Given the description of an element on the screen output the (x, y) to click on. 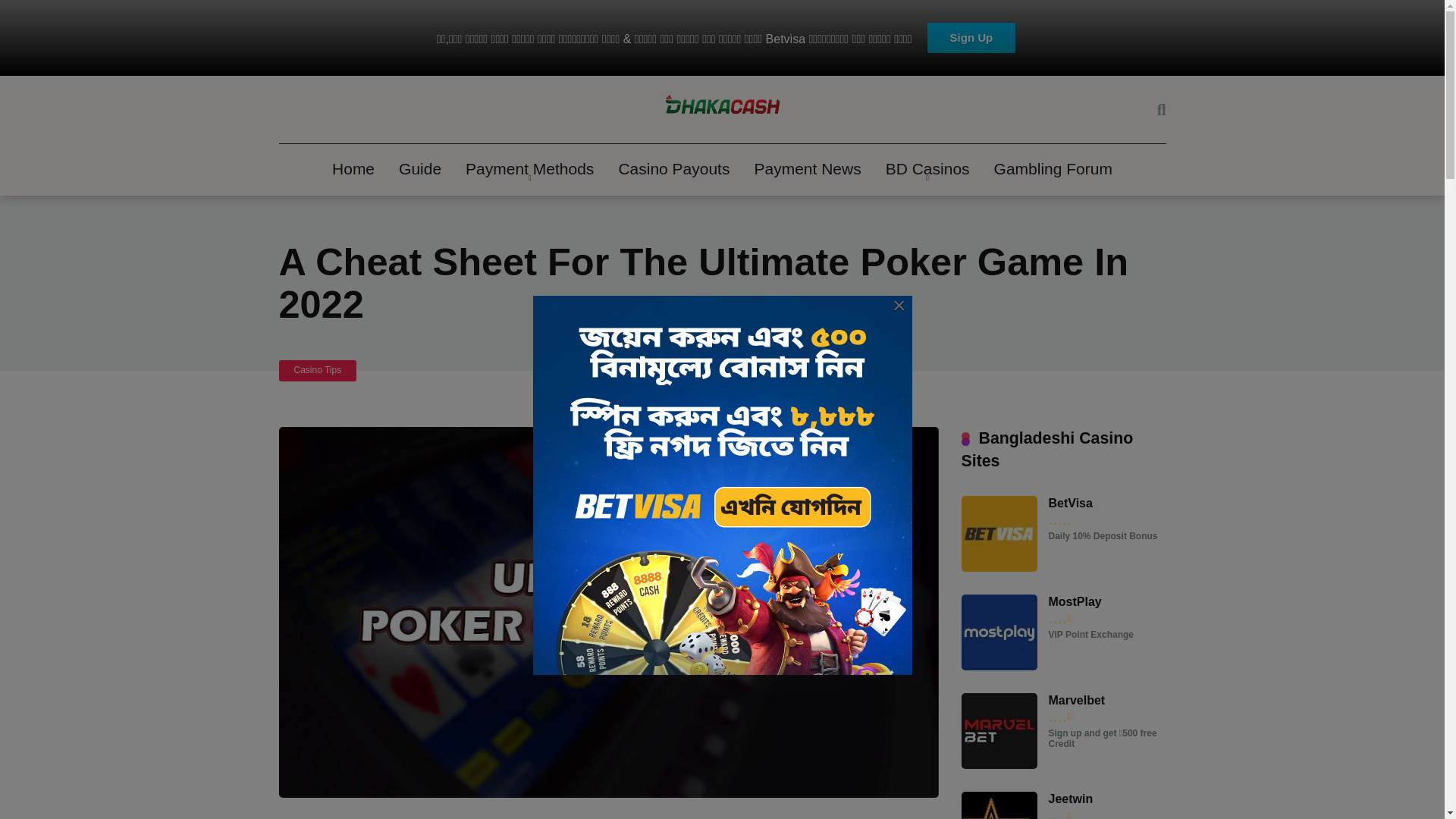
Home (353, 169)
Marvelbet (1076, 700)
Casino Payouts (673, 169)
MostPlay (998, 666)
Guide (419, 169)
Payment Methods (528, 169)
Payment News (806, 169)
MostPlay (1074, 602)
BetVisa (1070, 503)
Marvelbet (998, 764)
Casino Tips (317, 370)
BetVisa (998, 567)
Dhakacash (721, 110)
Gambling Forum (1052, 169)
Sign Up (971, 37)
